Given the description of an element on the screen output the (x, y) to click on. 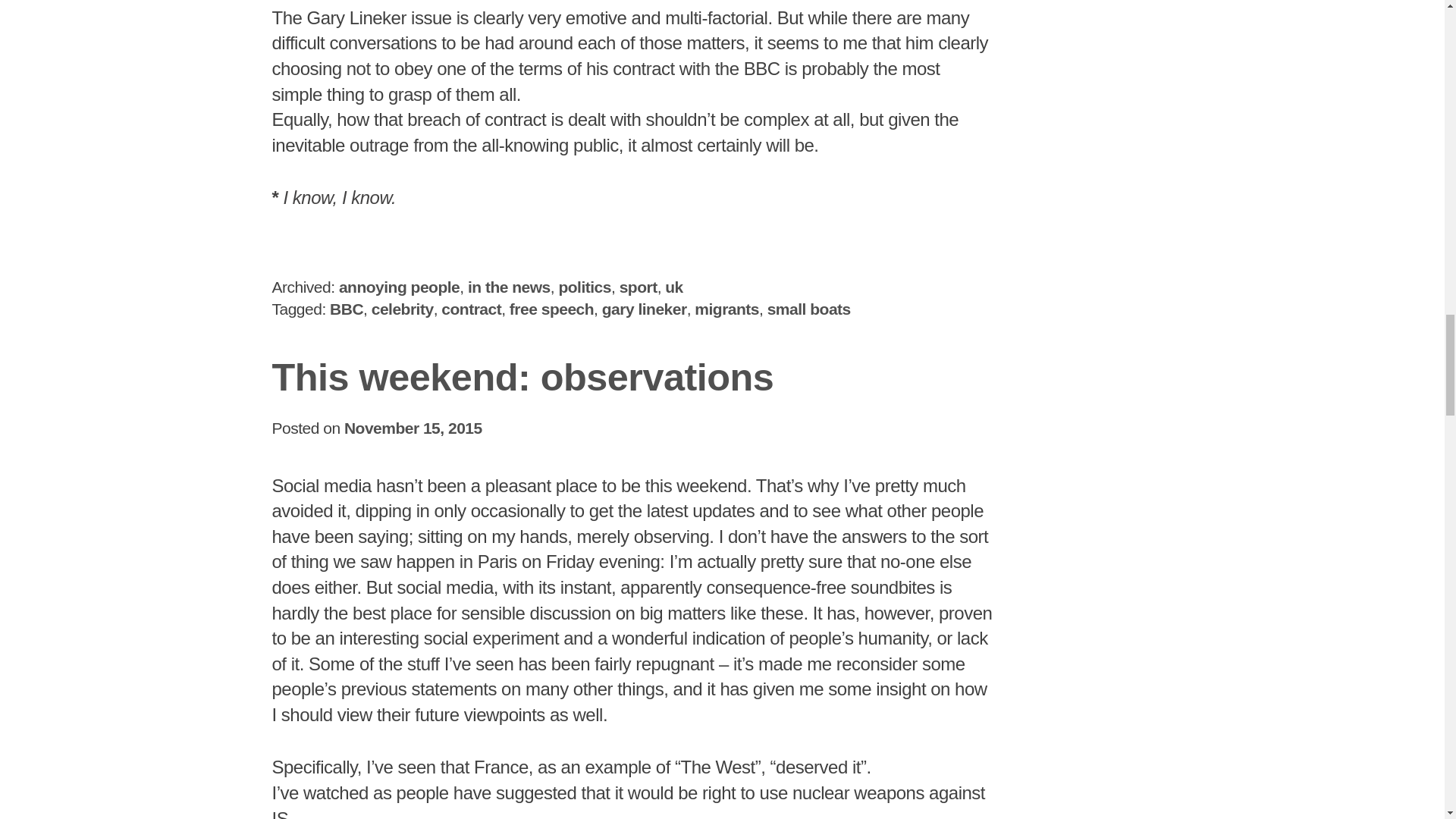
migrants (726, 308)
small boats (808, 308)
This weekend: observations (521, 376)
free speech (551, 308)
politics (584, 286)
uk (673, 286)
BBC (346, 308)
contract (470, 308)
in the news (508, 286)
gary lineker (644, 308)
sport (639, 286)
celebrity (402, 308)
November 15, 2015 (412, 427)
annoying people (399, 286)
